Given the description of an element on the screen output the (x, y) to click on. 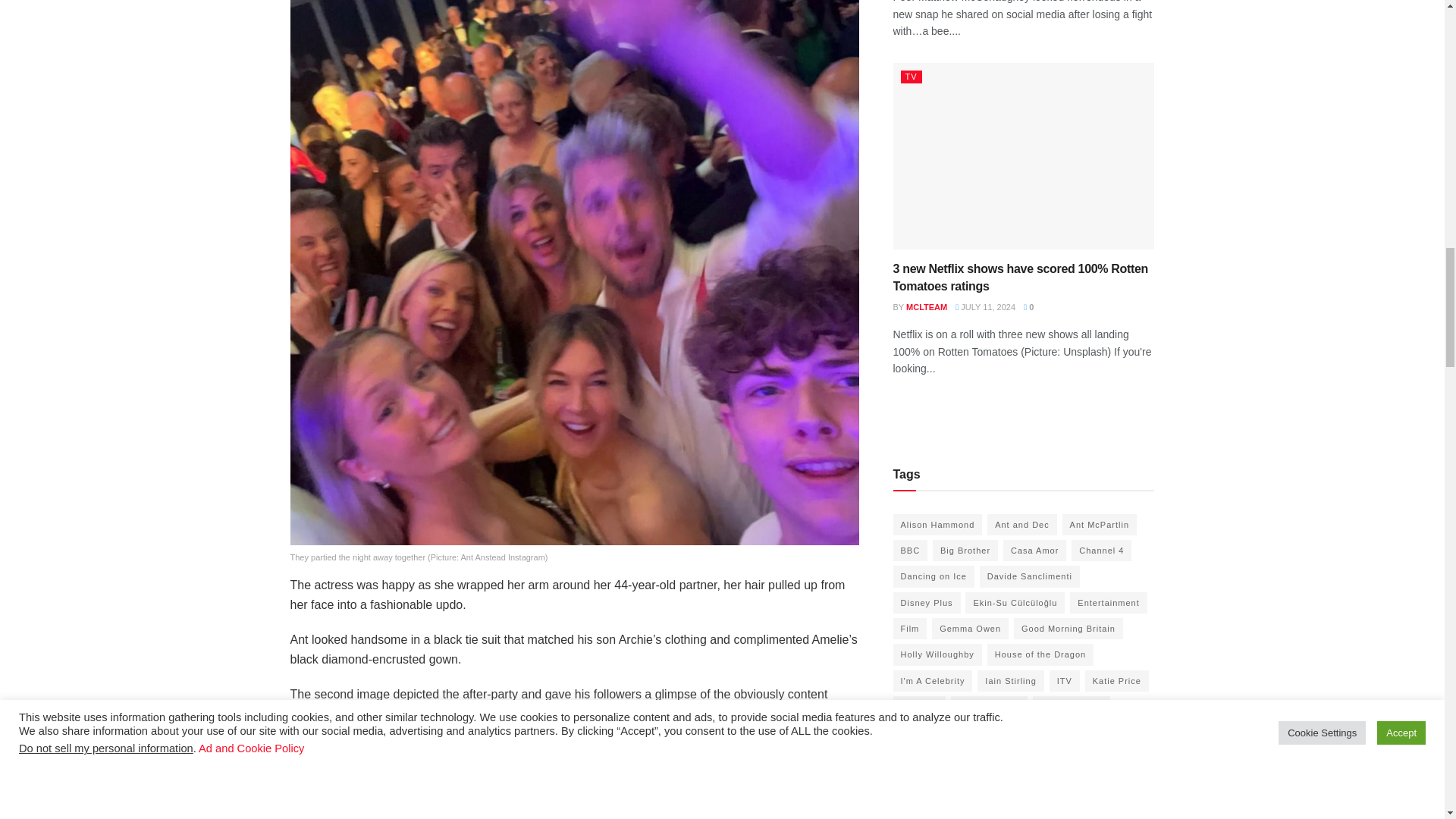
Advertisement (574, 773)
